Given the description of an element on the screen output the (x, y) to click on. 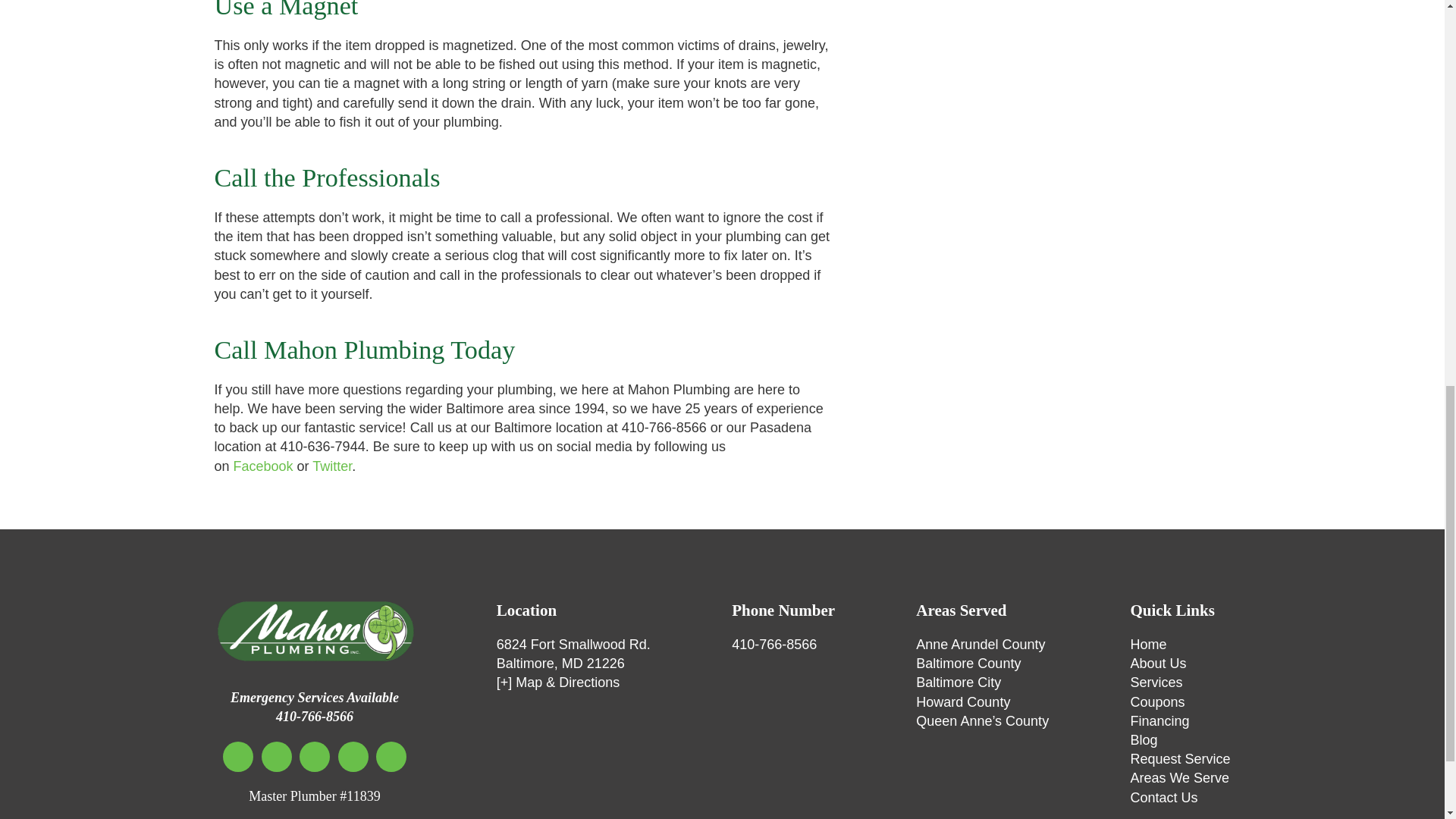
Mahon Plumbing Inc. (314, 631)
